Given the description of an element on the screen output the (x, y) to click on. 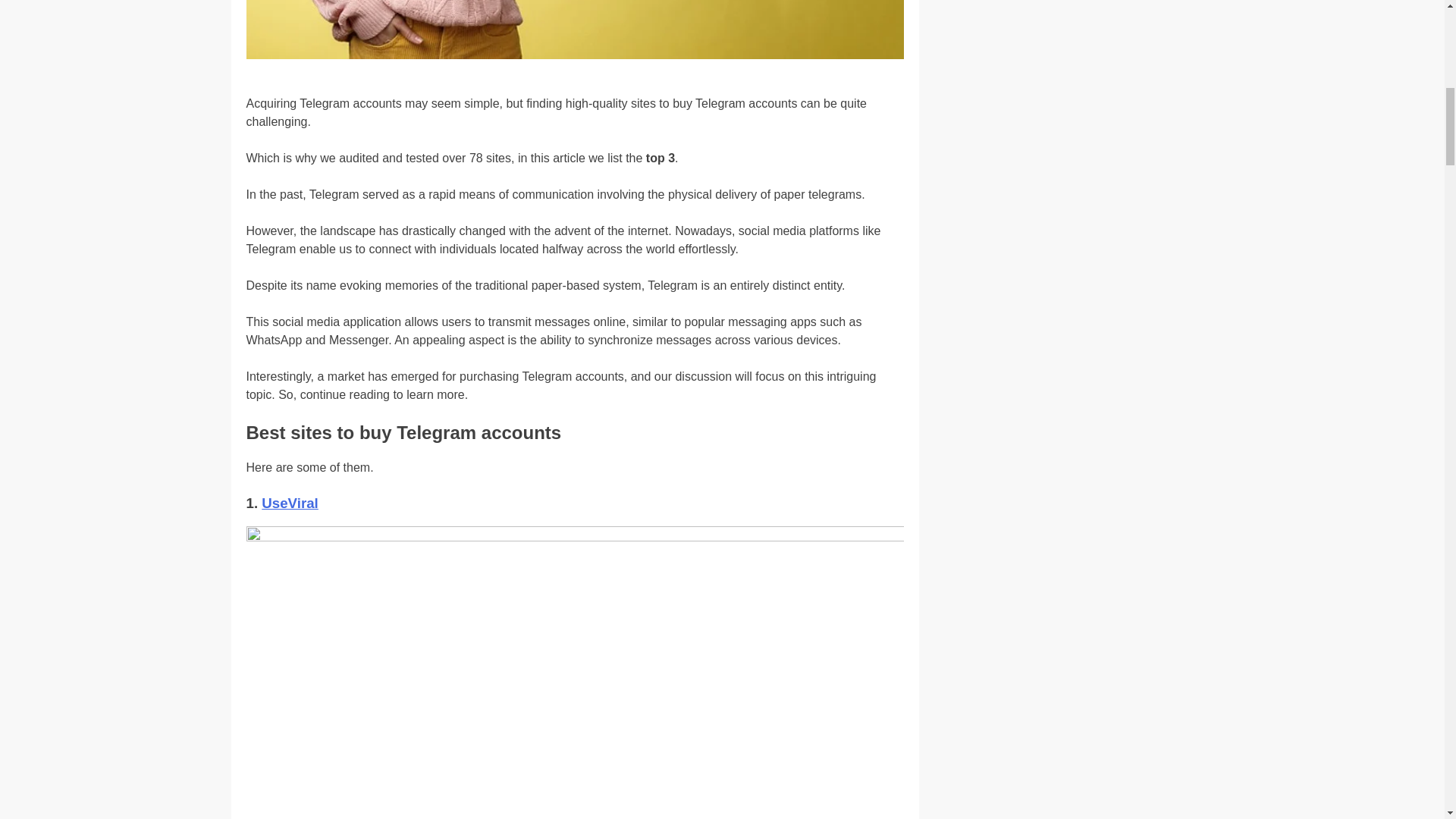
UseViral (290, 503)
